Given the description of an element on the screen output the (x, y) to click on. 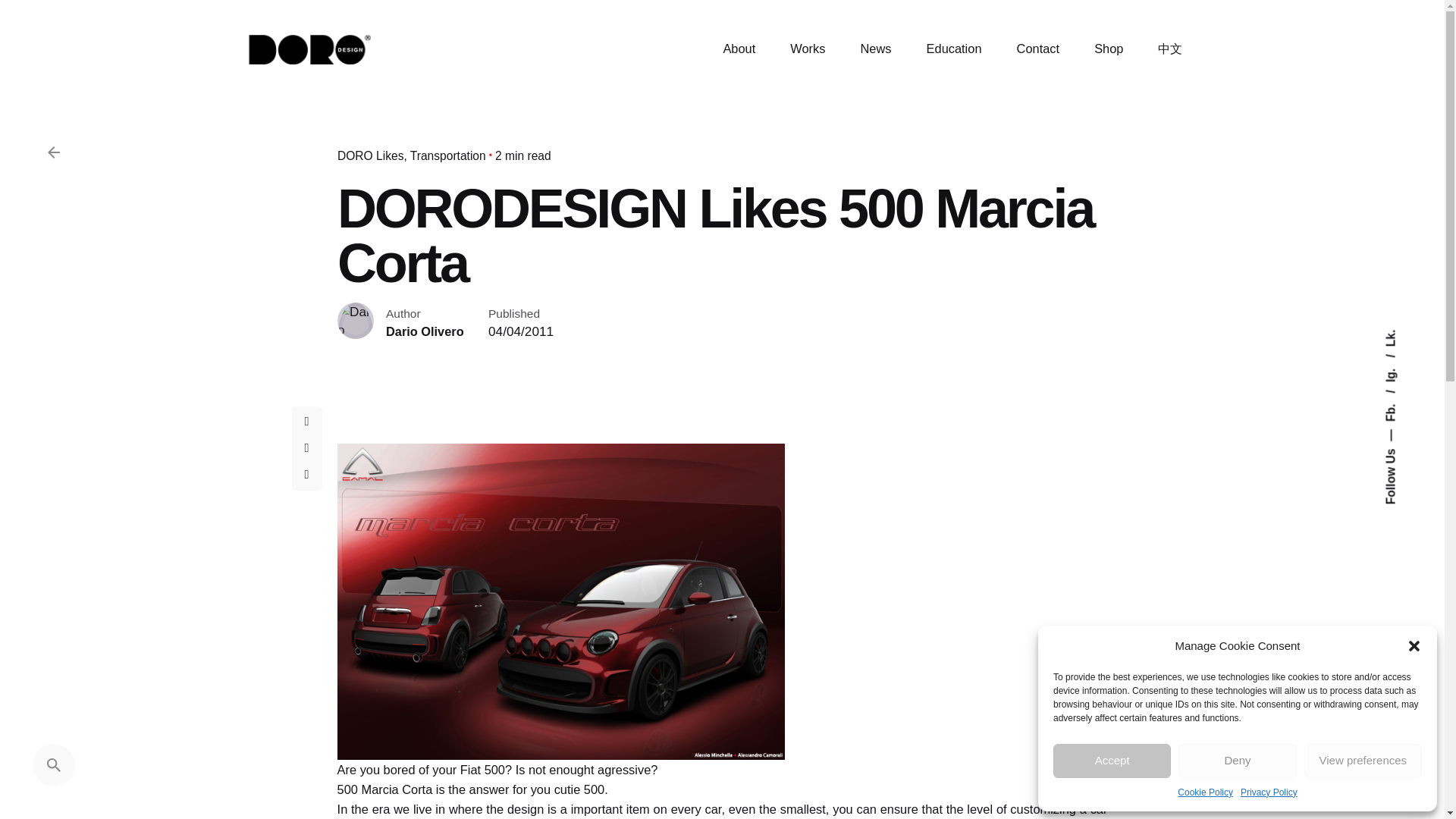
Deny (1236, 760)
Fb. (1399, 395)
Cookie Policy (1205, 792)
Ig. (1398, 359)
Works (808, 49)
Lk. (1392, 336)
News (875, 49)
About (738, 49)
Accept (1111, 760)
